Given the description of an element on the screen output the (x, y) to click on. 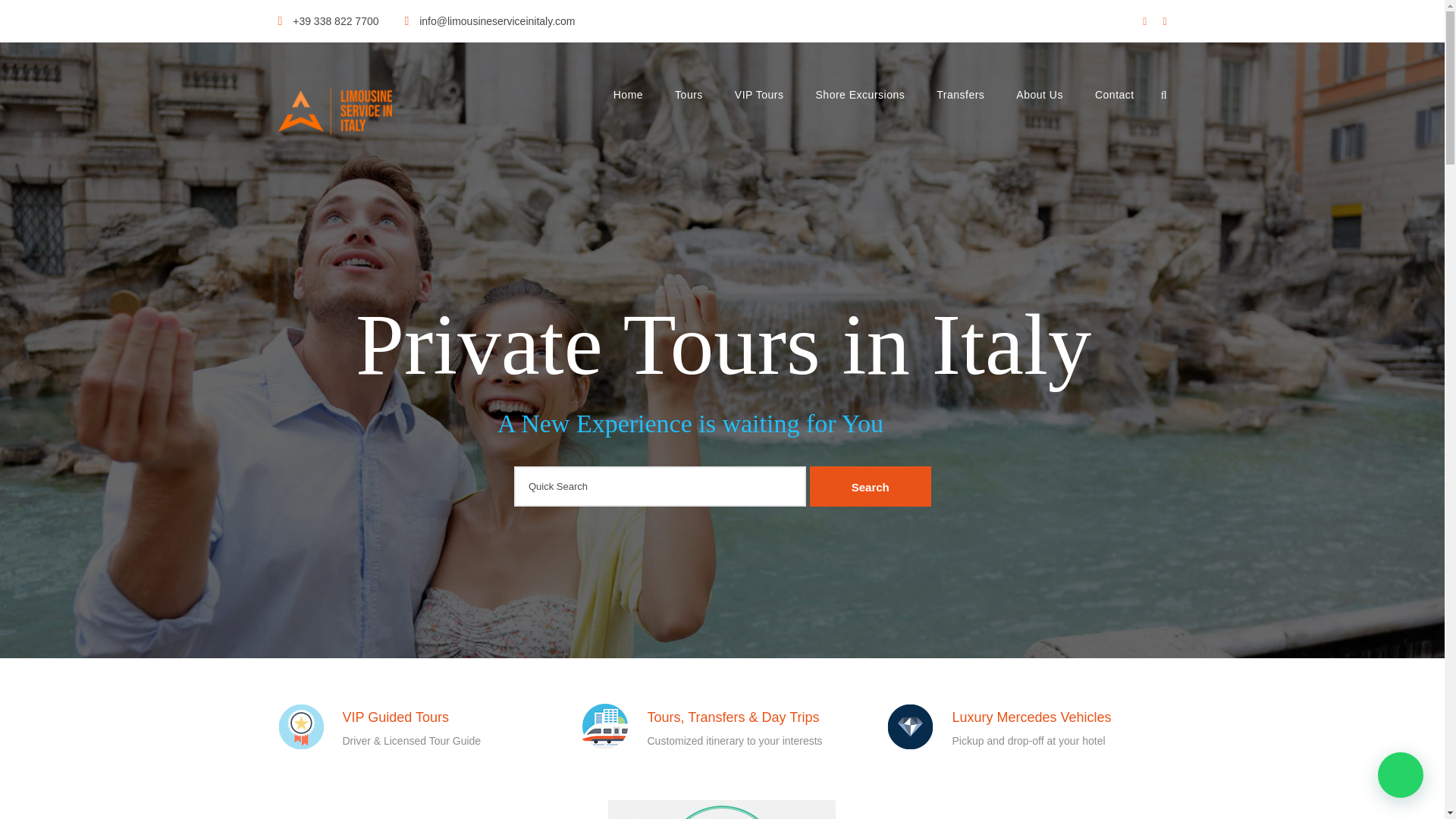
vipicon (300, 726)
lsiLogo (334, 110)
service-icon-3 (604, 726)
Search (870, 486)
lux (909, 726)
